Given the description of an element on the screen output the (x, y) to click on. 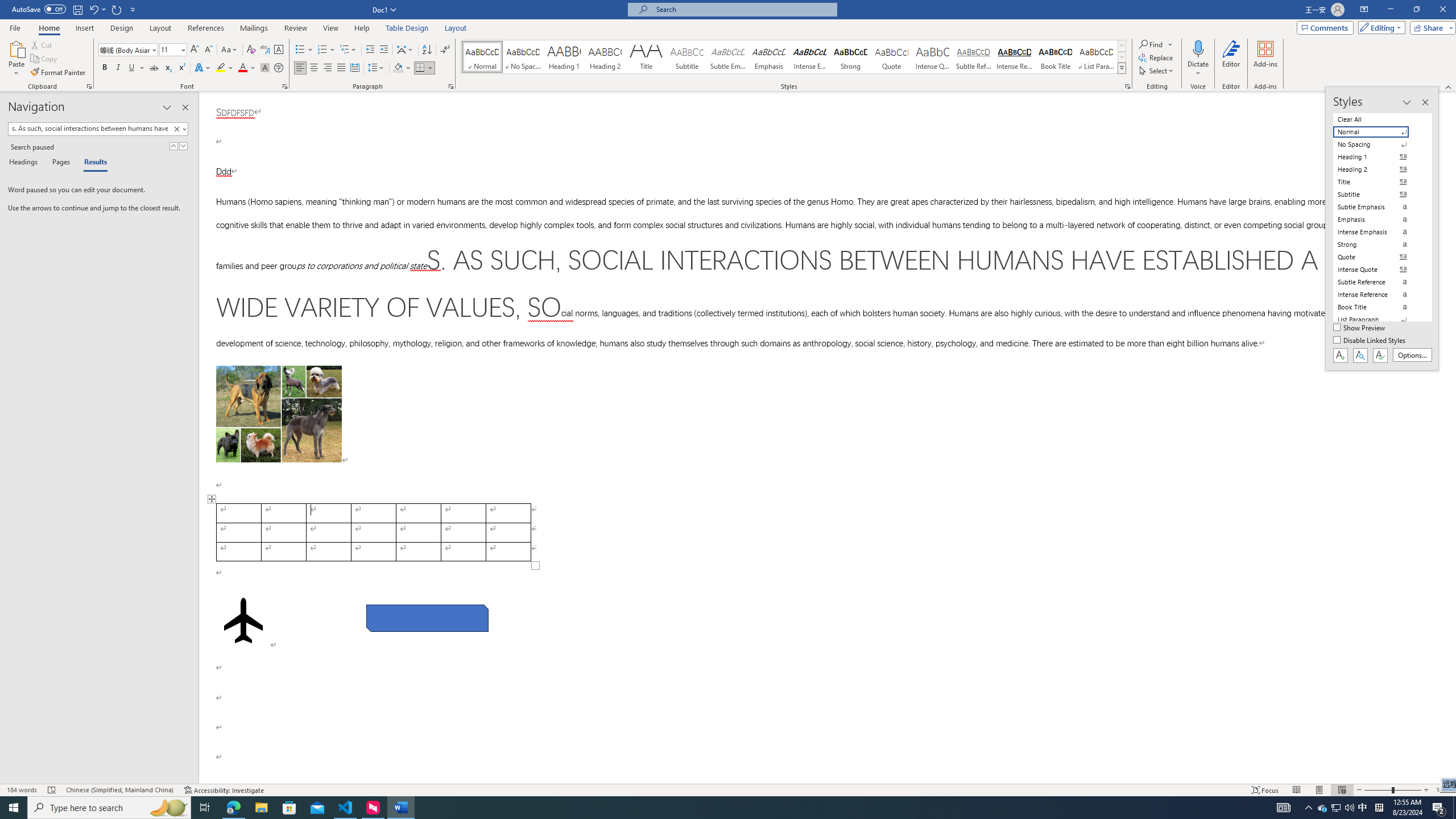
Shading (402, 67)
Font Color (246, 67)
Sort... (426, 49)
Subtle Emphasis (727, 56)
Format Painter (58, 72)
